Given the description of an element on the screen output the (x, y) to click on. 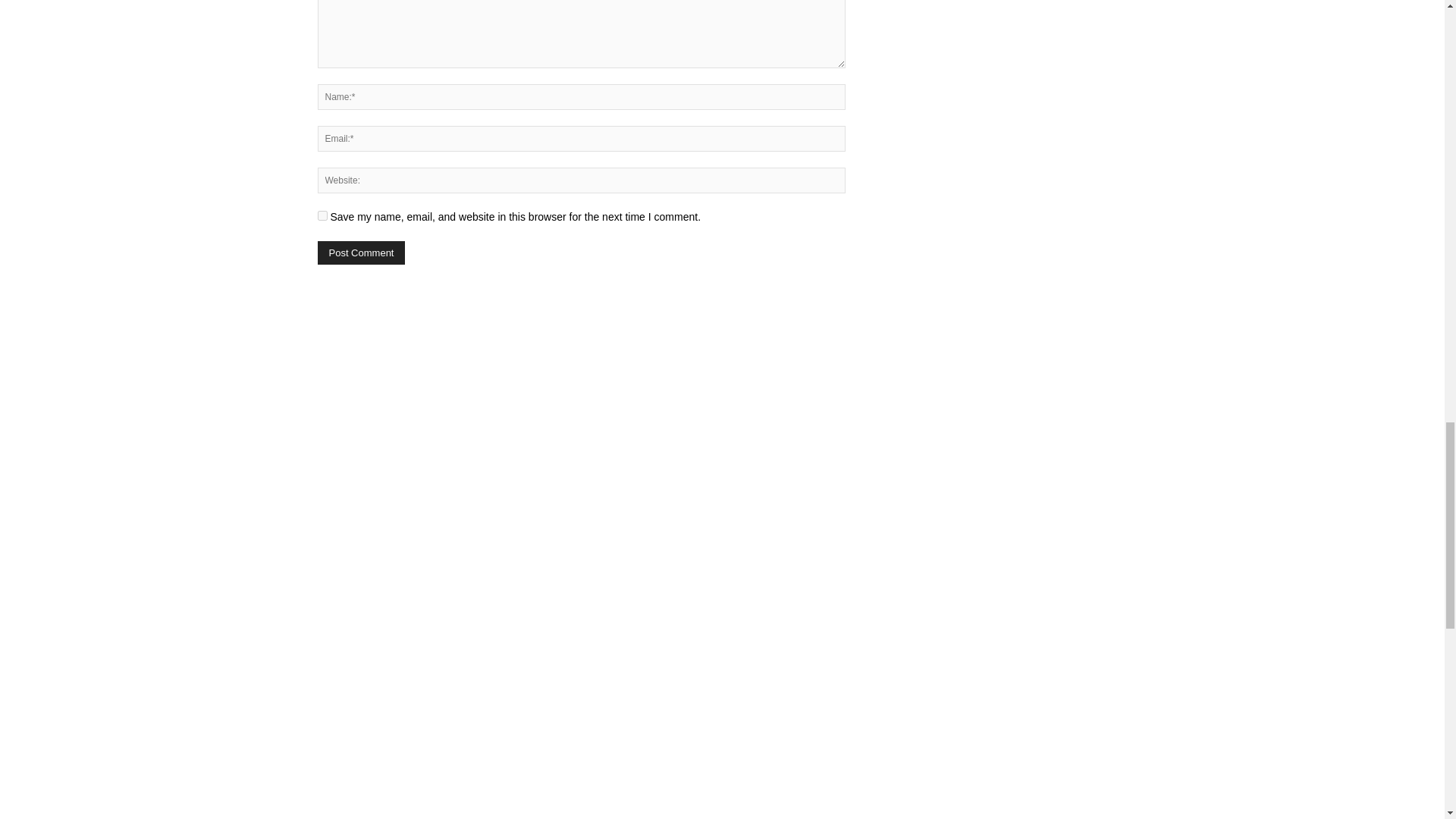
Post Comment (360, 252)
yes (321, 215)
